Given the description of an element on the screen output the (x, y) to click on. 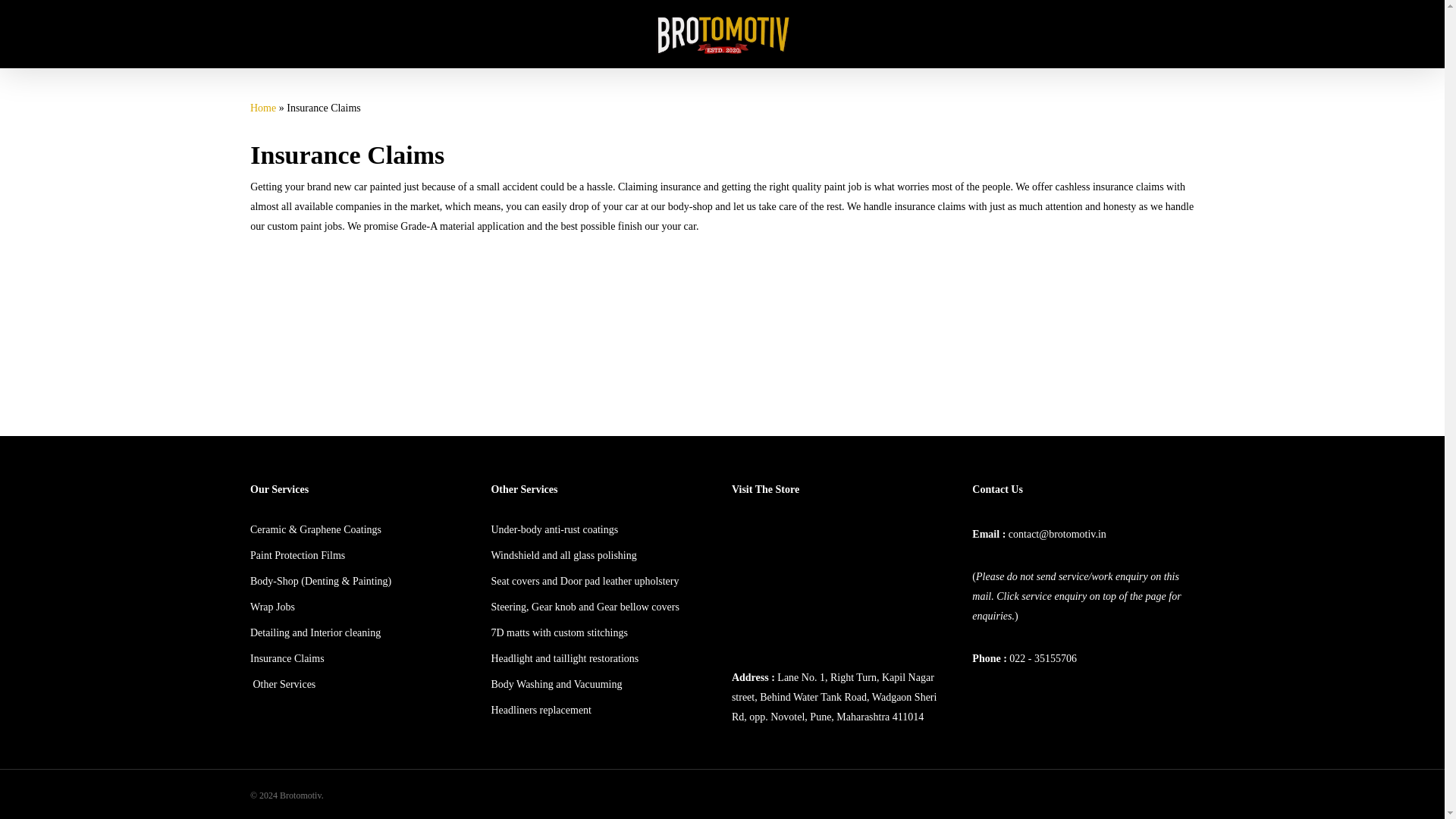
Seat covers and Door pad leather upholstery (584, 581)
Windshield and all glass polishing (563, 555)
Under-body anti-rust coatings (553, 529)
Body Washing and Vacuuming (555, 684)
7D matts with custom stitchings (558, 632)
Headliners replacement (540, 709)
Paint Protection Films (297, 555)
Insurance Claims (287, 658)
 Other Services (282, 684)
Headlight and taillight restorations (564, 658)
Detailing and Interior cleaning (315, 632)
Steering, Gear knob and Gear bellow covers (584, 606)
Wrap Jobs (272, 606)
Home (263, 107)
